Given the description of an element on the screen output the (x, y) to click on. 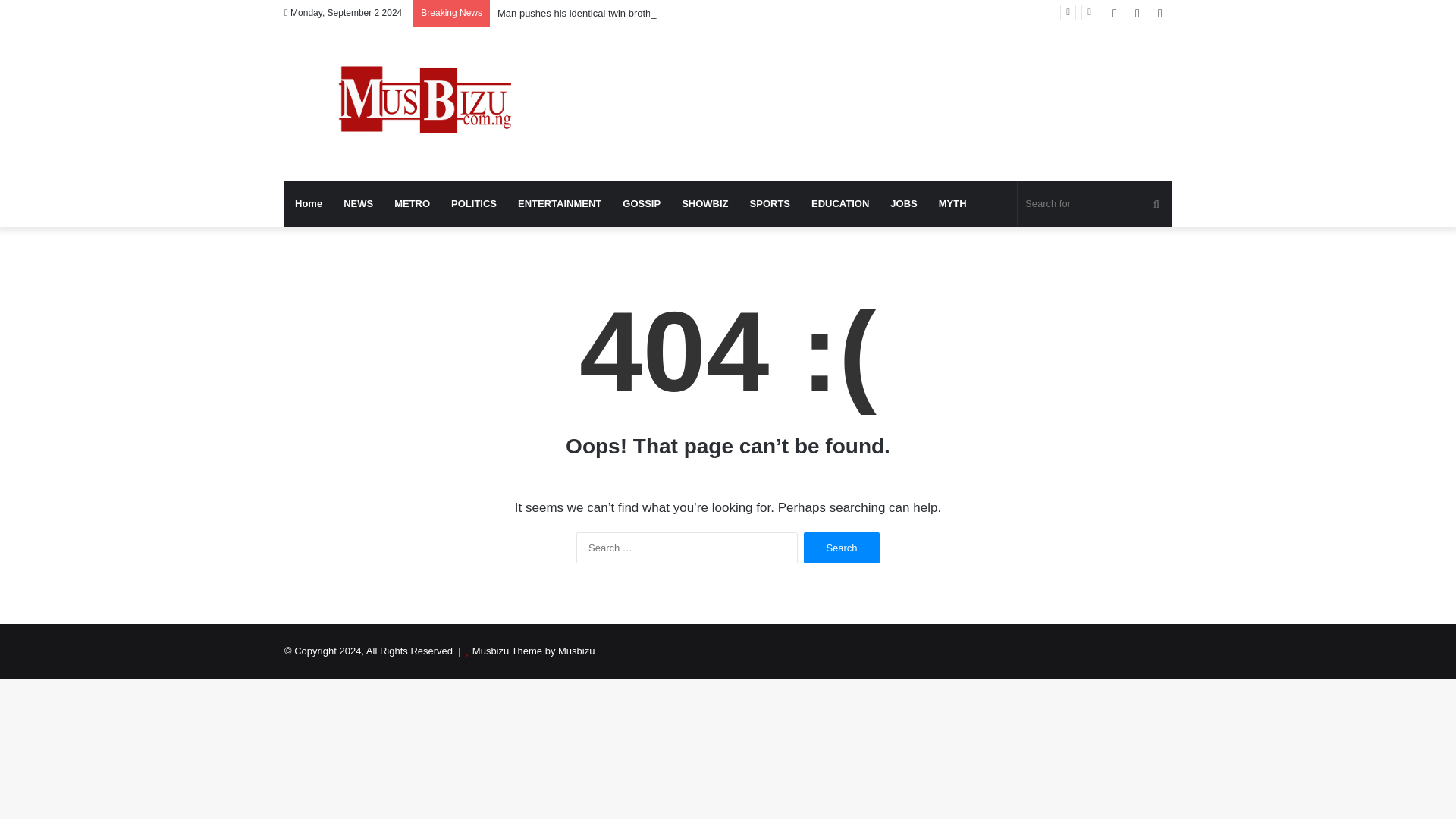
SPORTS (769, 203)
METRO (412, 203)
Home (308, 203)
SHOWBIZ (704, 203)
Search (841, 547)
MYTH (952, 203)
EDUCATION (839, 203)
Musbizu Theme by Musbizu (533, 650)
Search (841, 547)
